Given the description of an element on the screen output the (x, y) to click on. 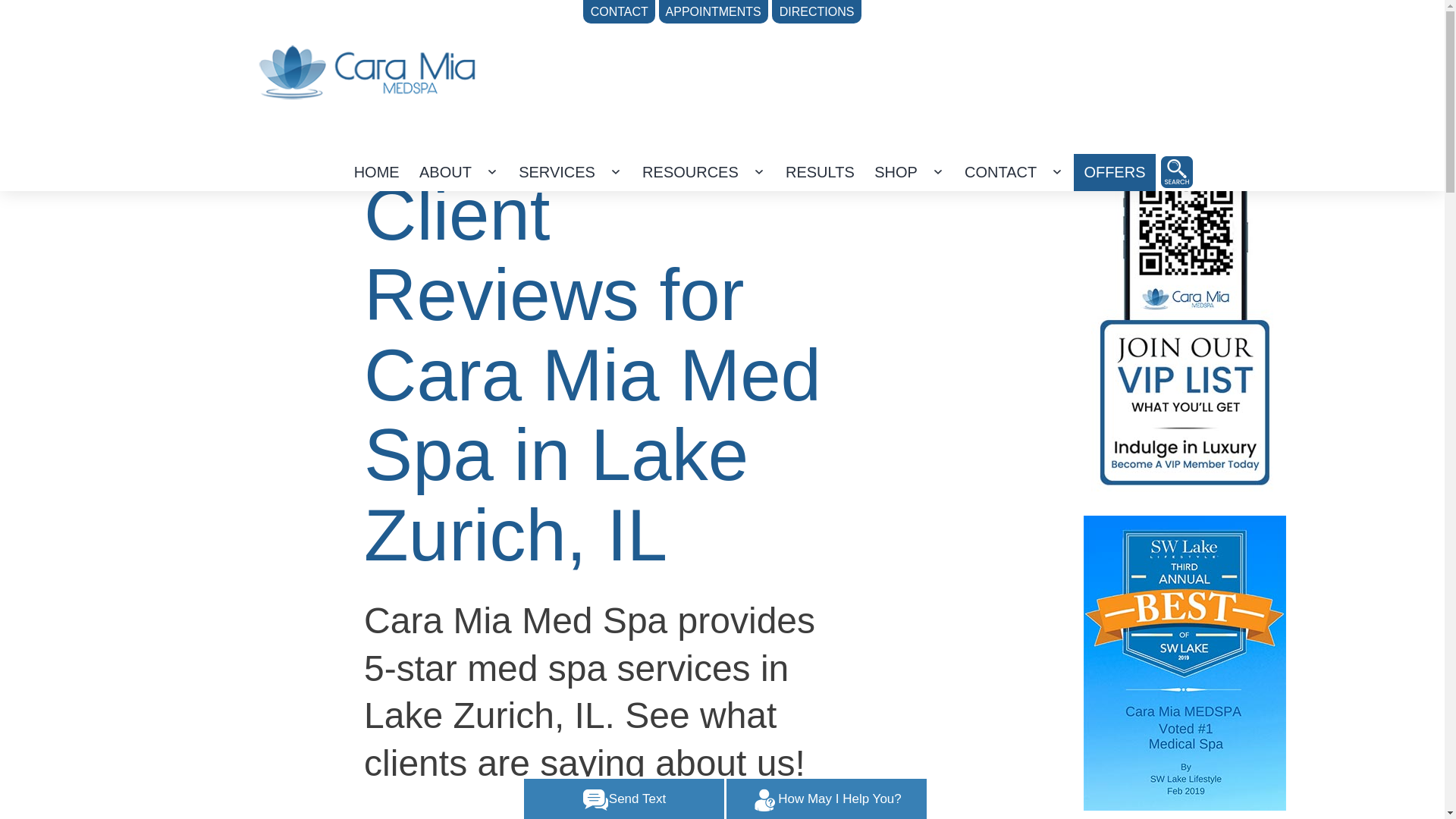
CONTACT (1000, 171)
Open menu (492, 171)
APPOINTMENTS (713, 11)
RESULTS (820, 171)
RESOURCES (689, 171)
HOME (376, 171)
DIRECTIONS (816, 11)
SERVICES (556, 171)
Open menu (1057, 171)
Cara Mia Medspa in Lake Zurich, IL (1176, 172)
